Given the description of an element on the screen output the (x, y) to click on. 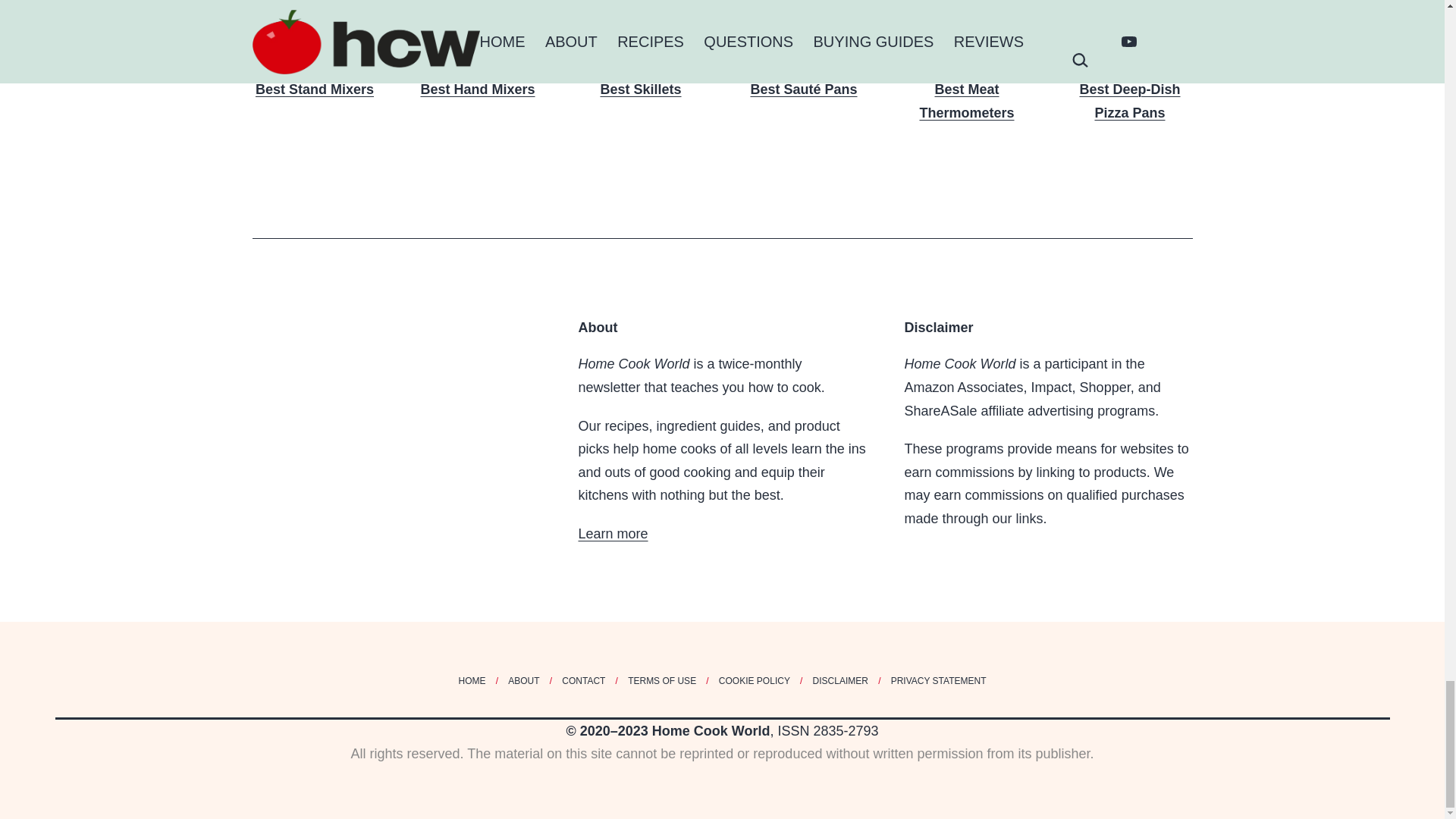
Best Meat Thermometers (966, 60)
Best Hand Mixers (477, 48)
DISCLAIMER (839, 680)
Best Skillets (640, 48)
Best Deep-Dish Pizza Pans (1129, 60)
ABOUT (523, 680)
CONTACT (582, 680)
HOME (471, 680)
Learn more (612, 533)
COOKIE POLICY (754, 680)
Best Stand Mixers (314, 48)
PRIVACY STATEMENT (937, 680)
TERMS OF USE (661, 680)
